Given the description of an element on the screen output the (x, y) to click on. 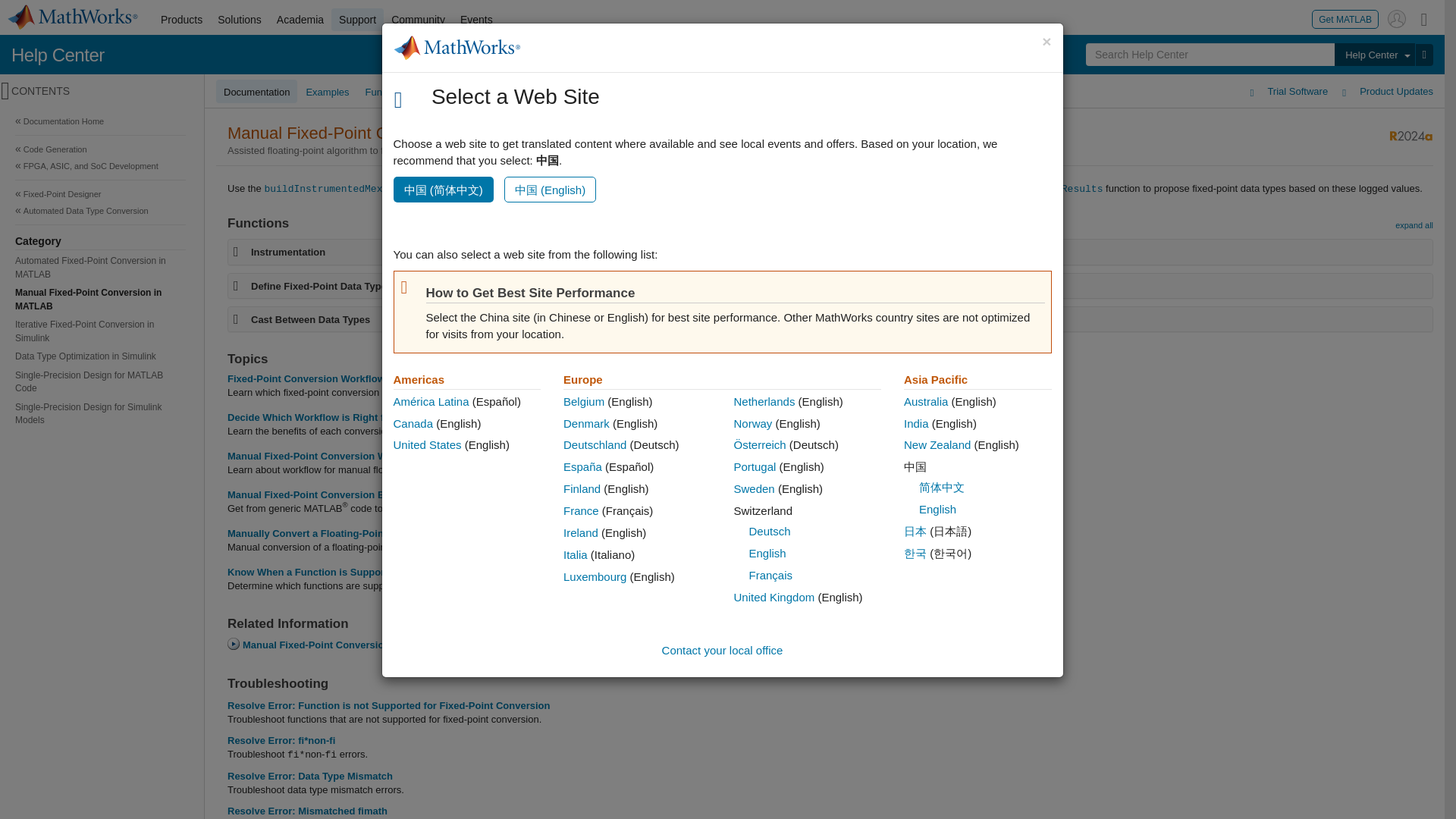
Matrix Menu (1423, 18)
Academia (300, 19)
Products (180, 19)
Support (357, 19)
Events (476, 19)
Get MATLAB (1344, 18)
Sign In to Your MathWorks Account (1396, 18)
Solutions (239, 19)
Community (418, 19)
